Given the description of an element on the screen output the (x, y) to click on. 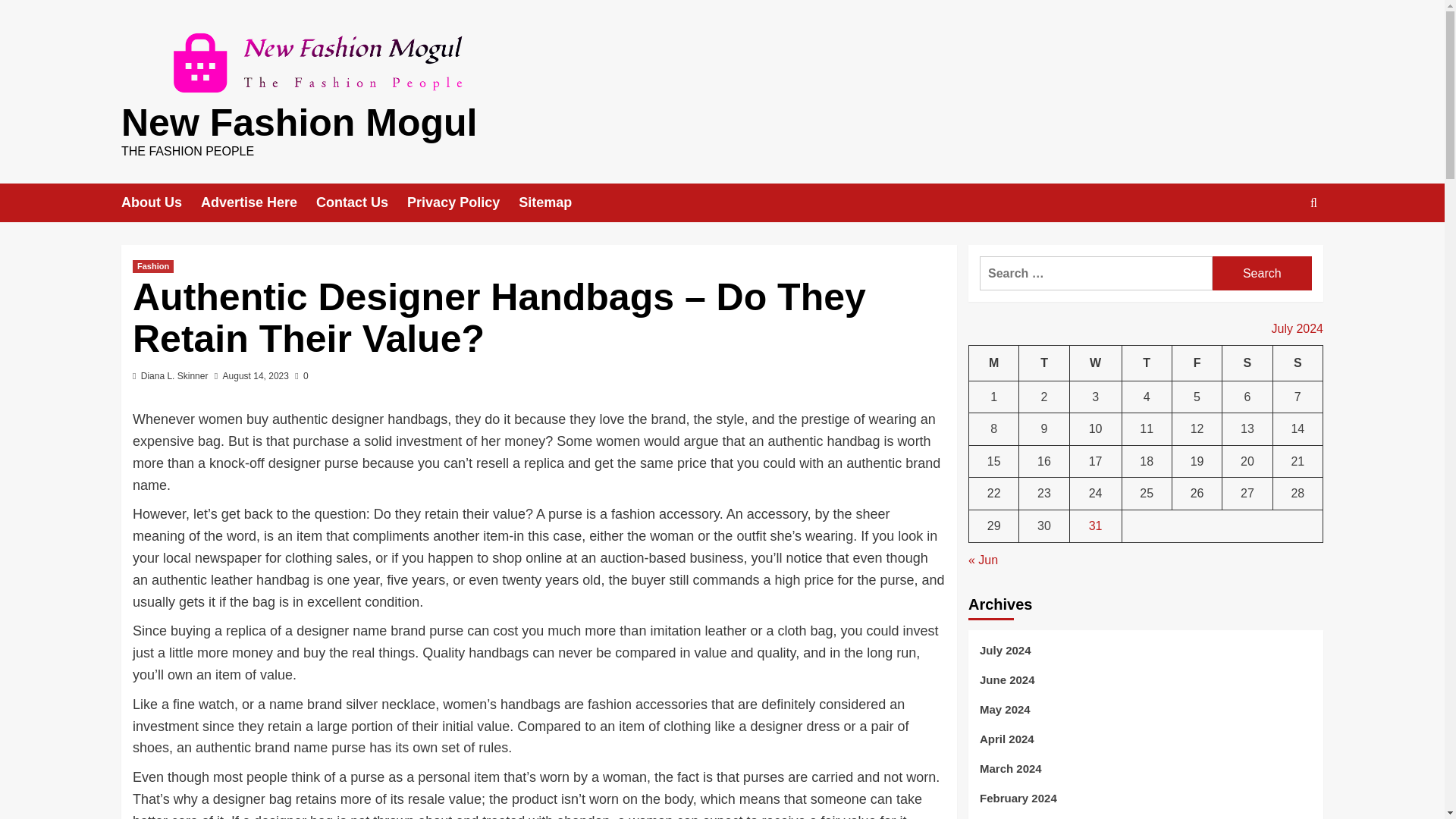
Sunday (1297, 363)
August 14, 2023 (255, 376)
Search (1278, 249)
Friday (1196, 363)
Tuesday (1043, 363)
Search (1261, 273)
Wednesday (1094, 363)
Diana L. Skinner (174, 376)
Saturday (1247, 363)
Fashion (152, 266)
Search (1261, 273)
Search (1261, 273)
Contact Us (361, 202)
0 (301, 376)
Sitemap (554, 202)
